Given the description of an element on the screen output the (x, y) to click on. 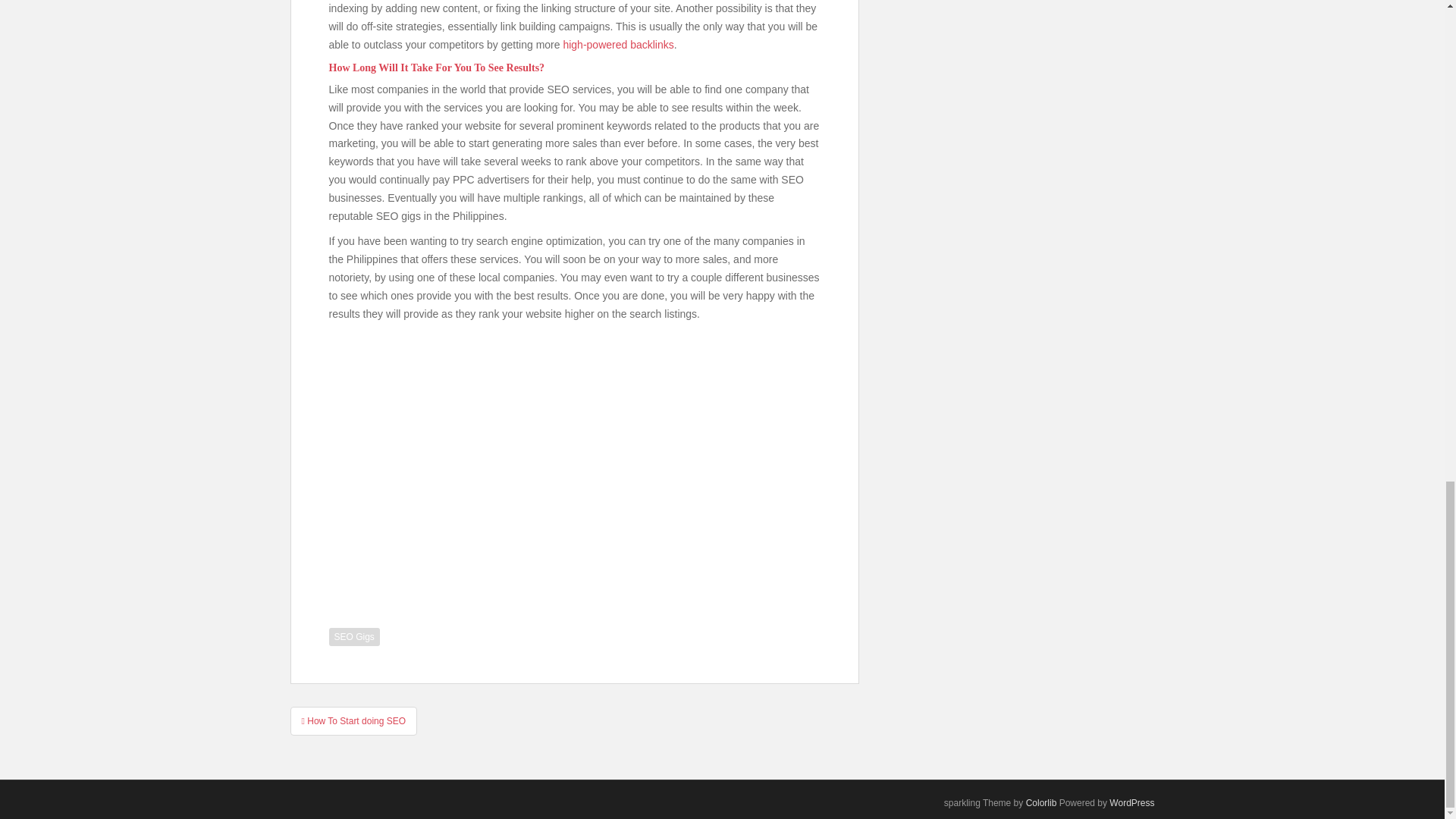
WordPress (1131, 802)
high-powered backlinks (617, 44)
Colorlib (1041, 802)
How To Start doing SEO (352, 720)
SEO Gigs (354, 637)
